Given the description of an element on the screen output the (x, y) to click on. 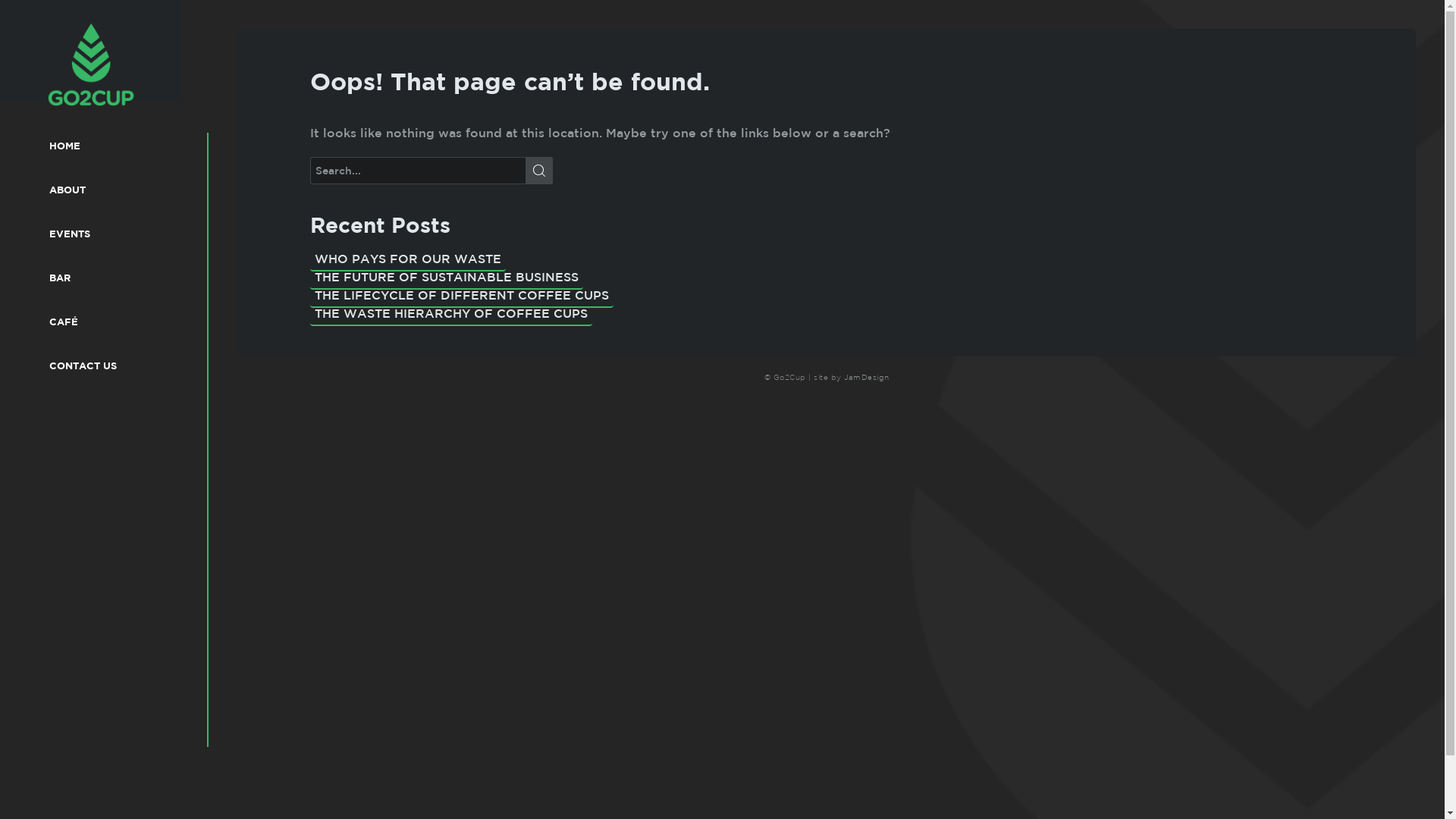
GO2CUP Element type: text (39, 125)
THE LIFECYCLE OF DIFFERENT COFFEE CUPS Element type: text (461, 294)
Search for: Element type: hover (431, 170)
BAR Element type: text (108, 276)
EVENTS Element type: text (108, 232)
THE FUTURE OF SUSTAINABLE BUSINESS Element type: text (446, 276)
THE WASTE HIERARCHY OF COFFEE CUPS Element type: text (451, 312)
HOME Element type: text (108, 144)
JamDesign Element type: text (866, 377)
ABOUT Element type: text (108, 188)
WHO PAYS FOR OUR WASTE Element type: text (407, 257)
CONTACT US Element type: text (108, 364)
